Given the description of an element on the screen output the (x, y) to click on. 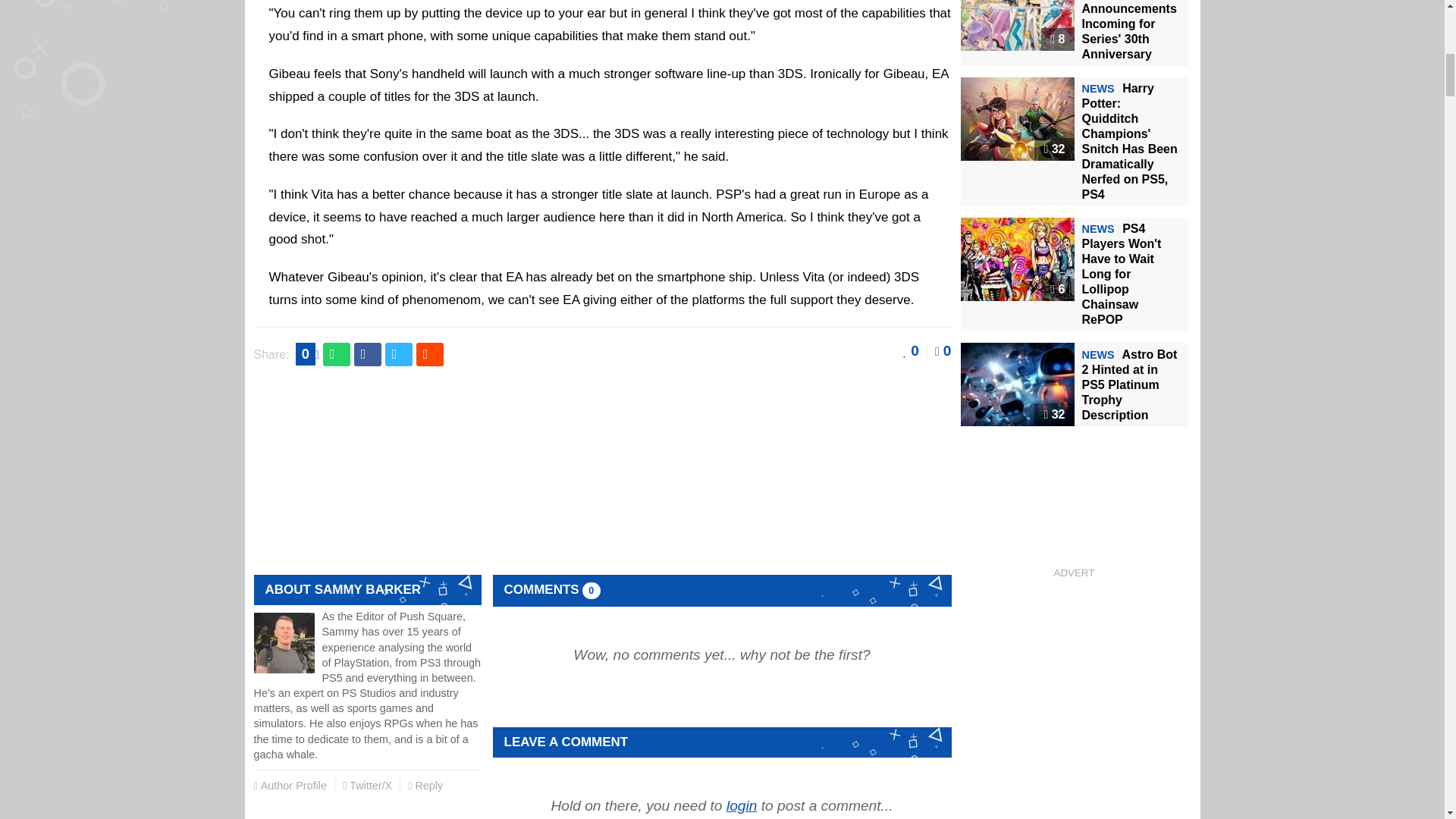
Share this on WhatsApp (336, 354)
Share this on Twitter (398, 354)
Share this on Facebook (367, 354)
